Given the description of an element on the screen output the (x, y) to click on. 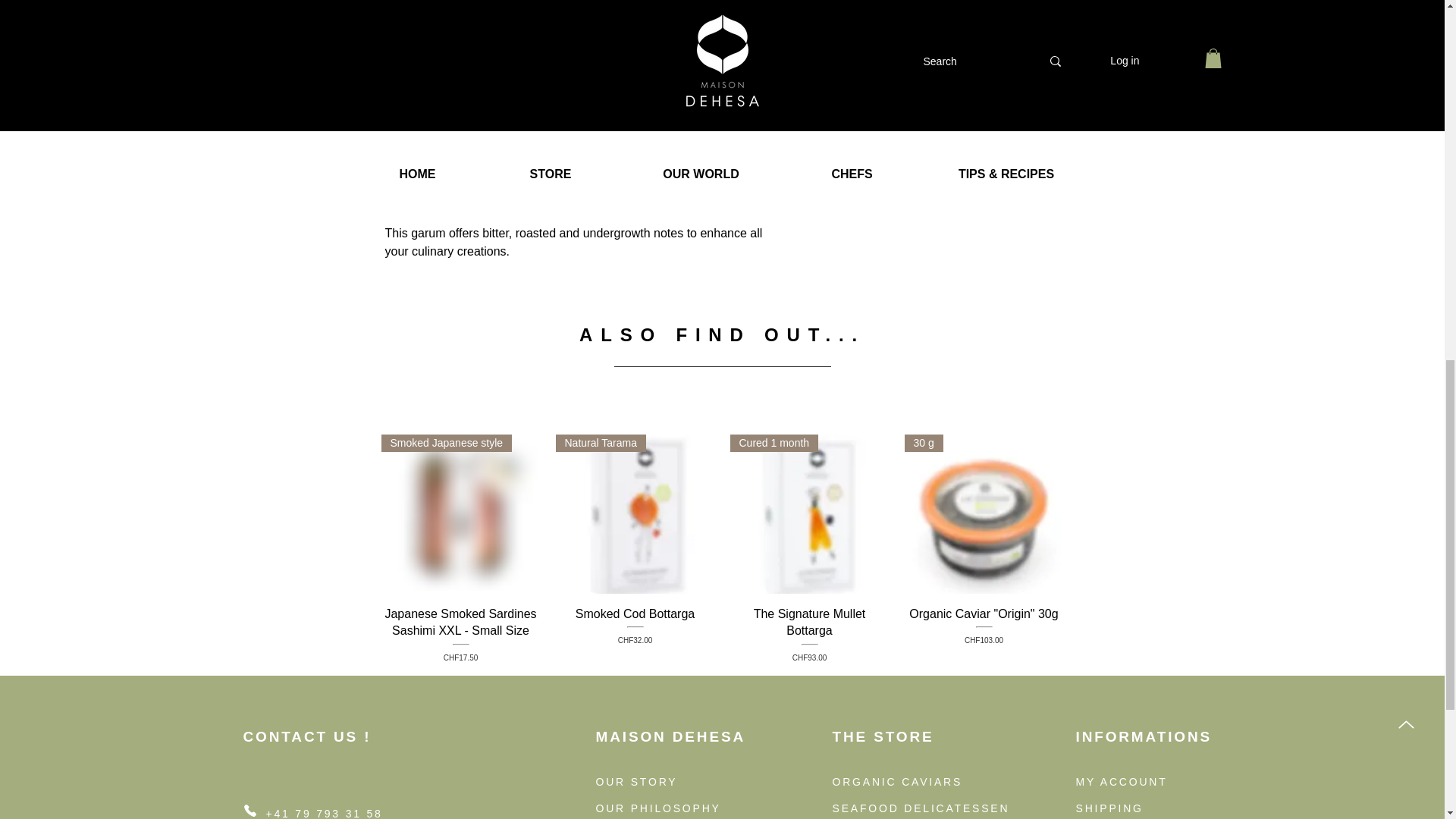
Natural Tarama (808, 634)
Smoked Japanese style (634, 513)
Cured 1 month (460, 513)
30 g (634, 634)
